Given the description of an element on the screen output the (x, y) to click on. 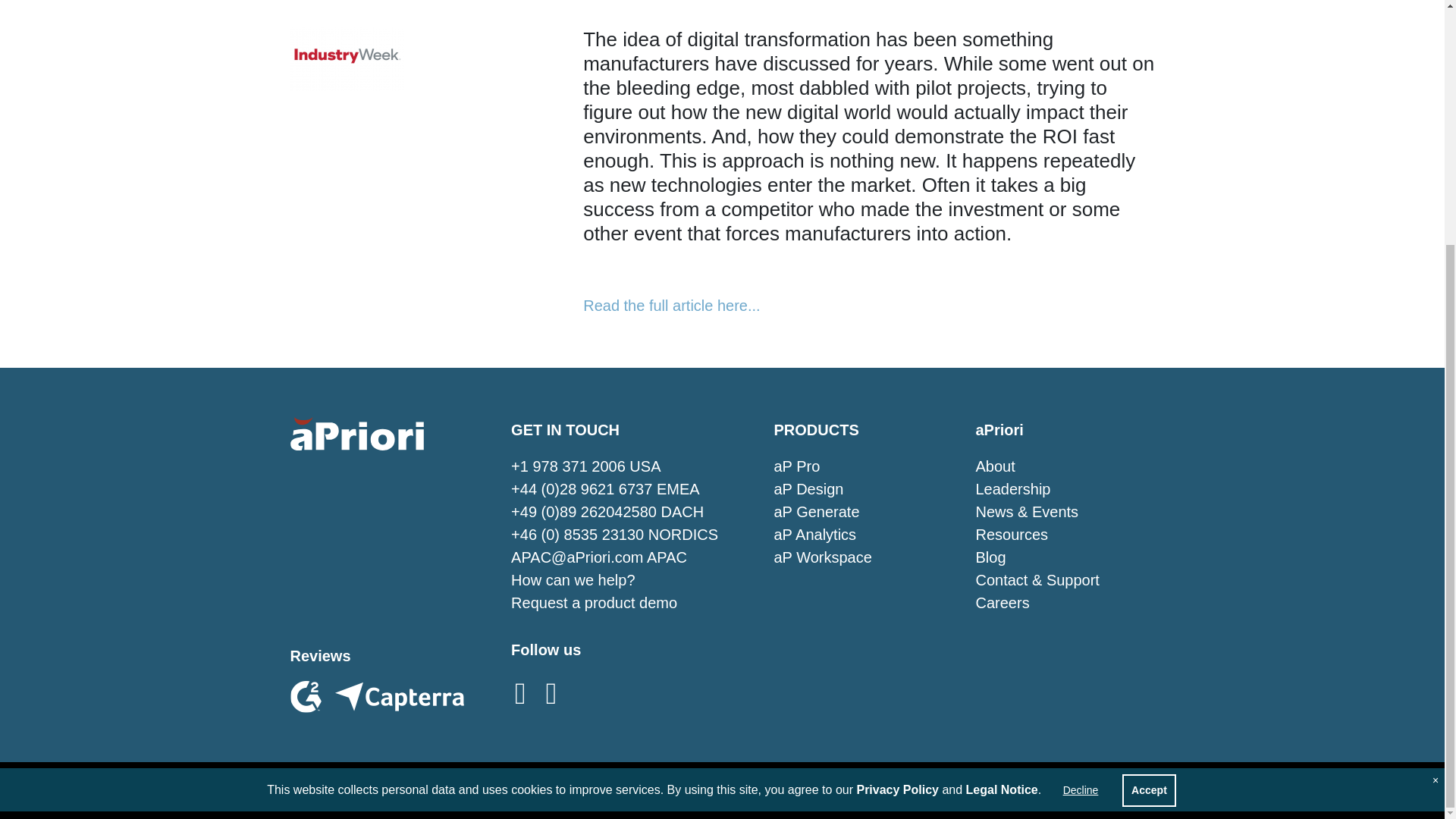
Blog (990, 556)
Resources (1011, 534)
Read the full article here... (671, 305)
Leadership (1012, 488)
Careers (1002, 602)
aP Pro (796, 466)
About (994, 466)
Request a product demo (594, 602)
Legal (676, 789)
aP Analytics (814, 534)
aP Workspace (821, 556)
Privacy (734, 789)
How can we help? (572, 579)
aP Design (808, 488)
Privacy Policy (897, 449)
